Given the description of an element on the screen output the (x, y) to click on. 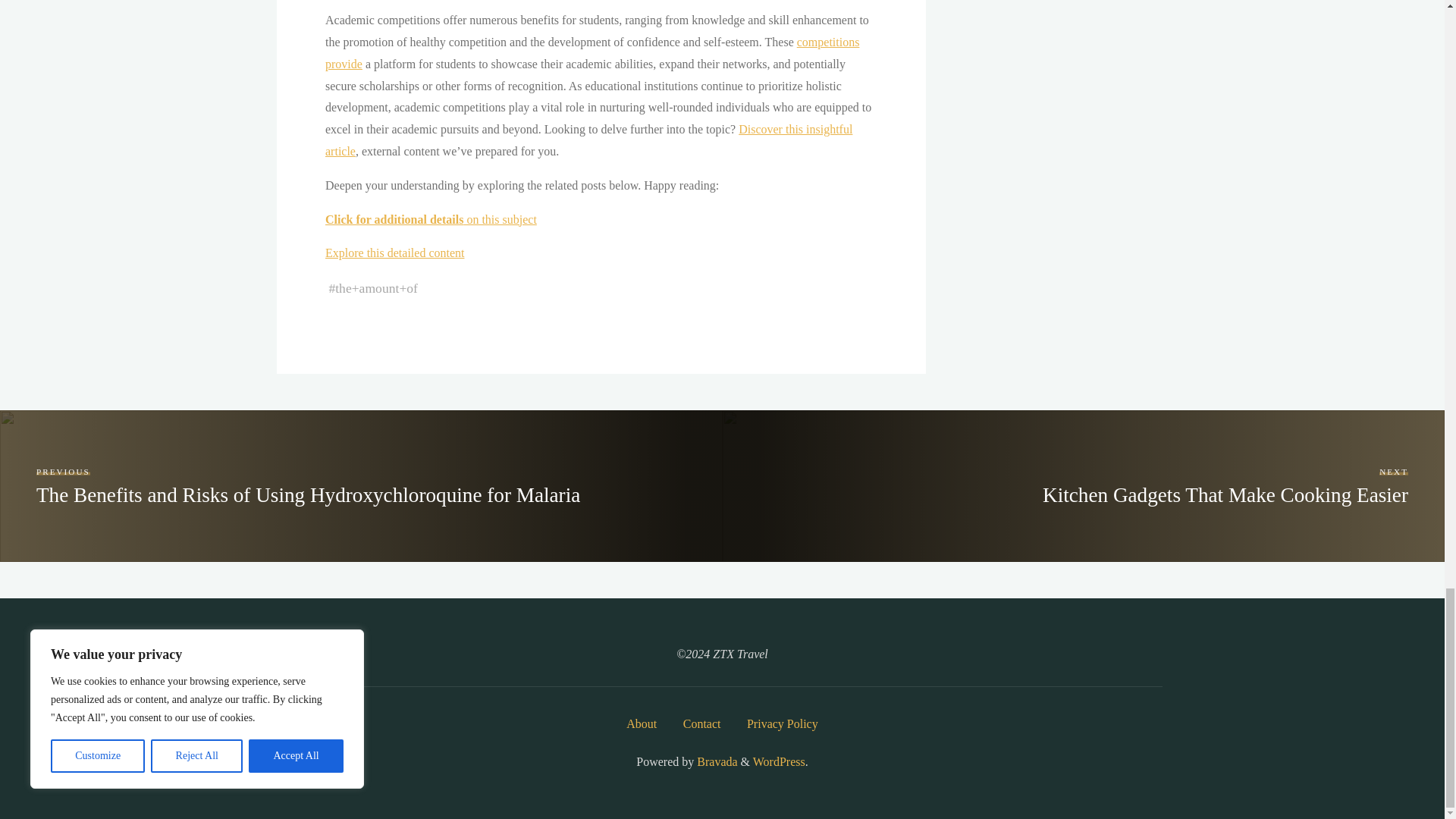
Semantic Personal Publishing Platform (778, 761)
Discover this insightful article (587, 140)
Click for additional details on this subject (429, 219)
Explore this detailed content (394, 252)
Bravada WordPress Theme by Cryout Creations (715, 761)
competitions provide (591, 53)
